Given the description of an element on the screen output the (x, y) to click on. 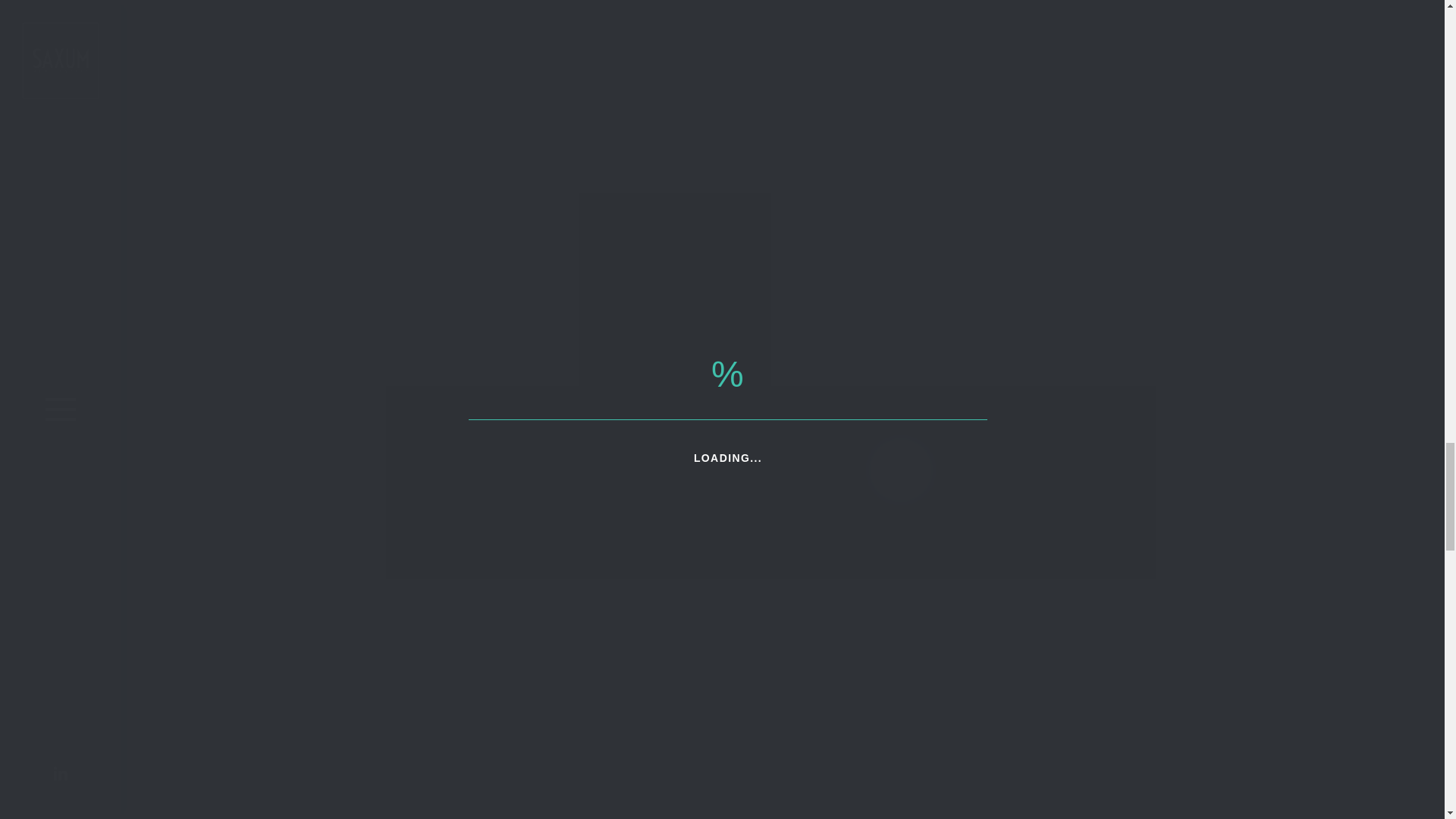
40 BEECHWOOD ANIMATED RENDERING (548, 814)
